Given the description of an element on the screen output the (x, y) to click on. 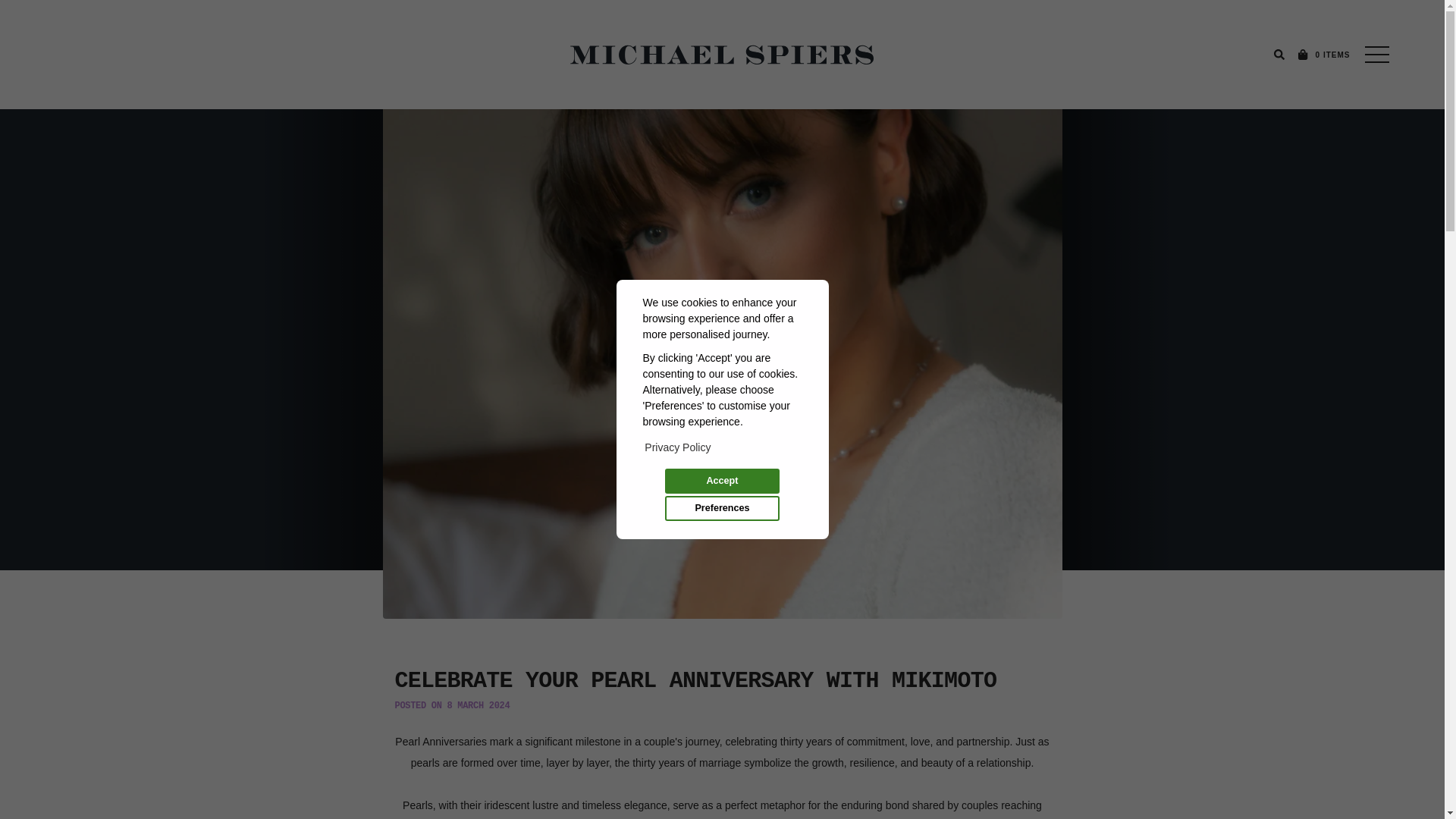
Accept (721, 480)
0 ITEMS (1322, 54)
Preferences (721, 508)
Privacy Policy (678, 447)
